Given the description of an element on the screen output the (x, y) to click on. 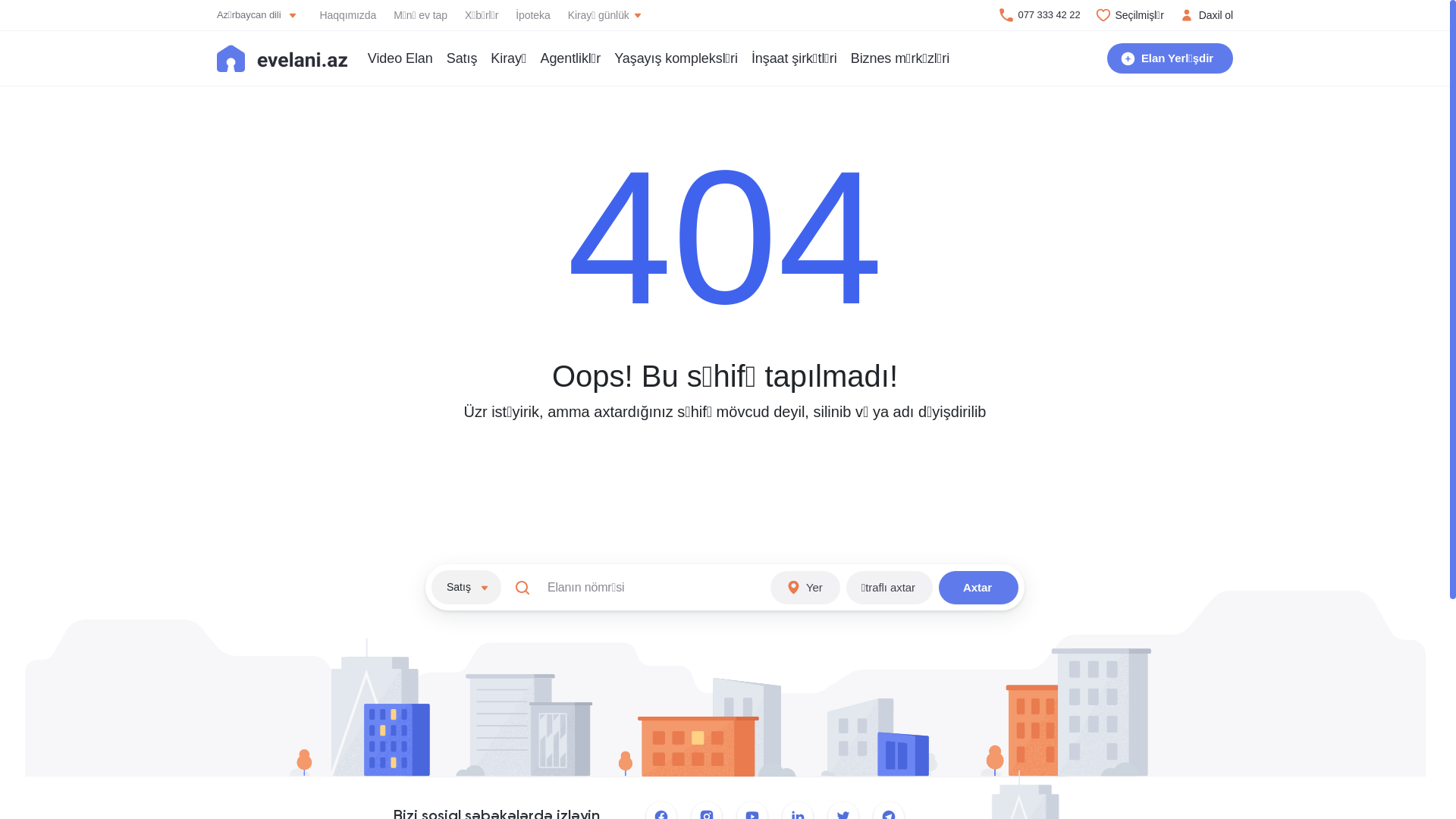
Video Elan Element type: text (400, 58)
Daxil ol Element type: text (1205, 14)
Axtar Element type: text (978, 586)
077 333 42 22 Element type: text (1037, 14)
